Given the description of an element on the screen output the (x, y) to click on. 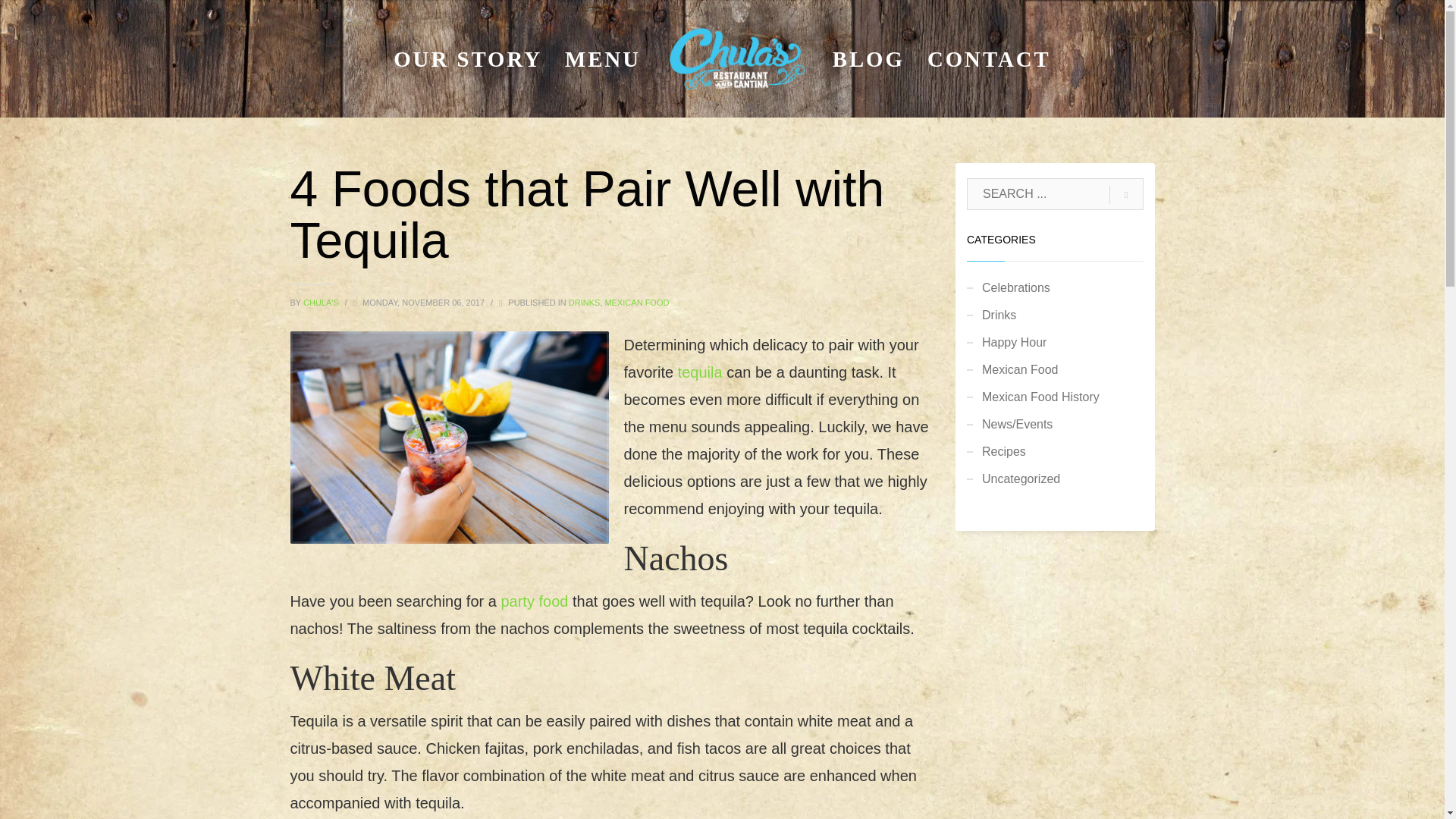
tequila (700, 371)
Recipes (1054, 452)
CHULA'S (321, 302)
MENU (602, 58)
Celebrations (1054, 288)
DRINKS (584, 302)
Eugene, Oregon (736, 58)
CONTACT (988, 58)
go (1125, 194)
MEXICAN FOOD (636, 302)
Mexican Food (1054, 370)
OUR STORY (467, 58)
Drinks (1054, 315)
BLOG (869, 58)
Mexican Food History (1054, 397)
